Given the description of an element on the screen output the (x, y) to click on. 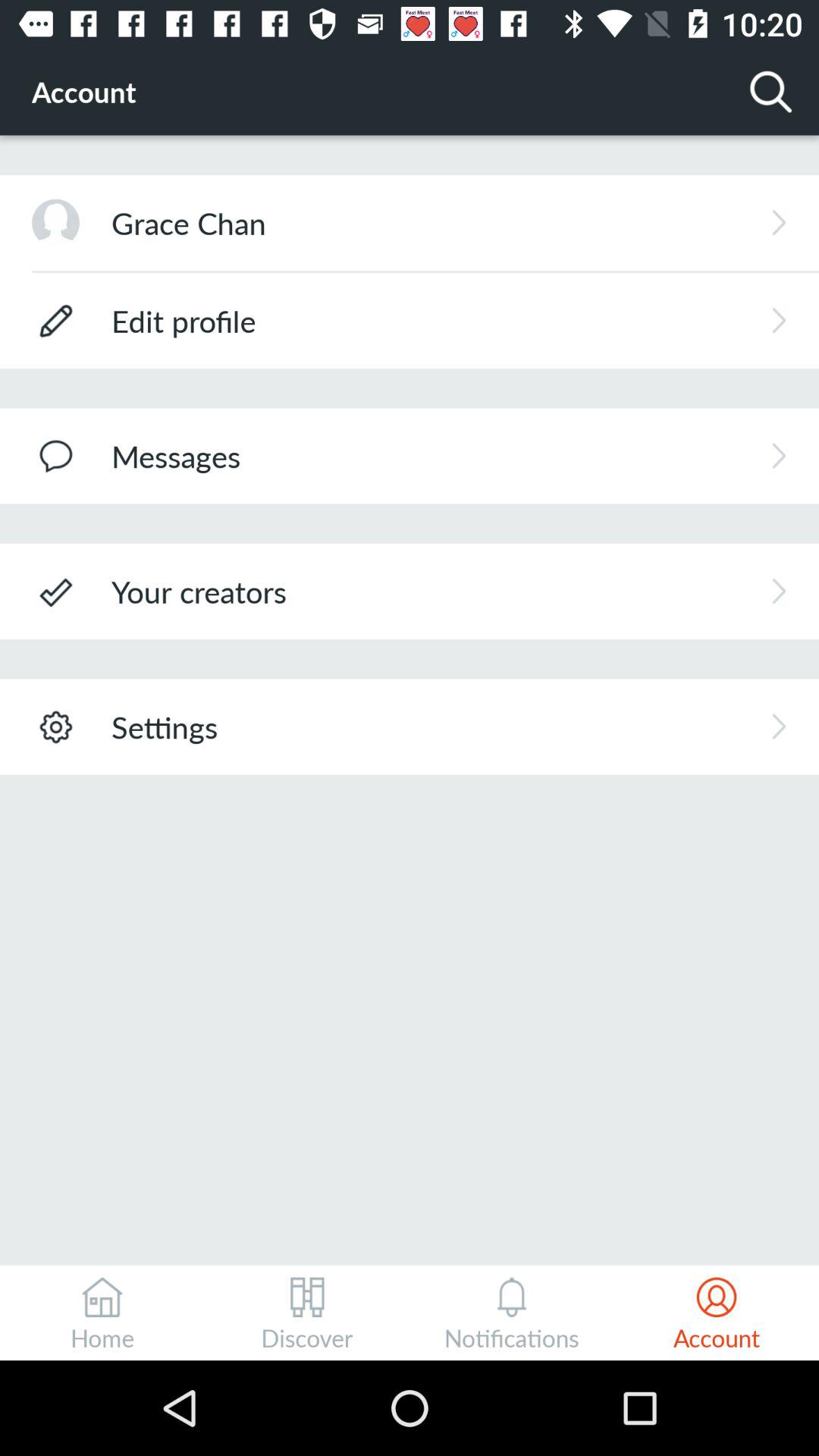
open the icon to the right of the account item (771, 91)
